Given the description of an element on the screen output the (x, y) to click on. 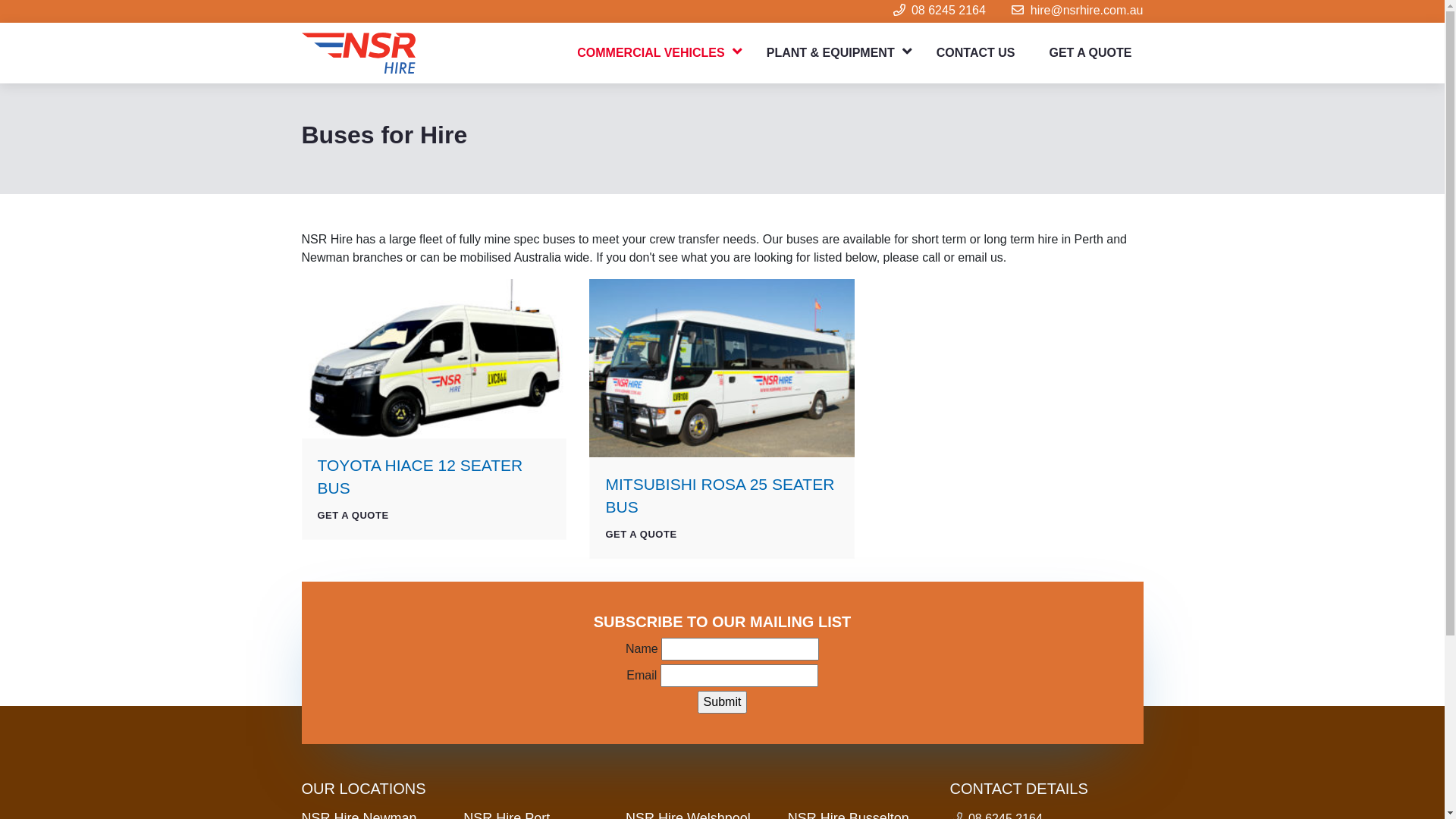
COMMERCIAL VEHICLES Element type: text (654, 52)
GET A QUOTE Element type: text (640, 533)
GET A QUOTE Element type: text (352, 514)
CONTACT US Element type: text (975, 52)
TOYOTA HIACE 12 SEATER BUS Element type: text (419, 476)
PLANT & EQUIPMENT Element type: text (834, 52)
08 6245 2164 Element type: text (948, 10)
GET A QUOTE Element type: text (1089, 52)
Submit Element type: text (722, 701)
MITSUBISHI ROSA 25 SEATER BUS Element type: text (719, 495)
hire@nsrhire.com.au Element type: text (1086, 10)
